Given the description of an element on the screen output the (x, y) to click on. 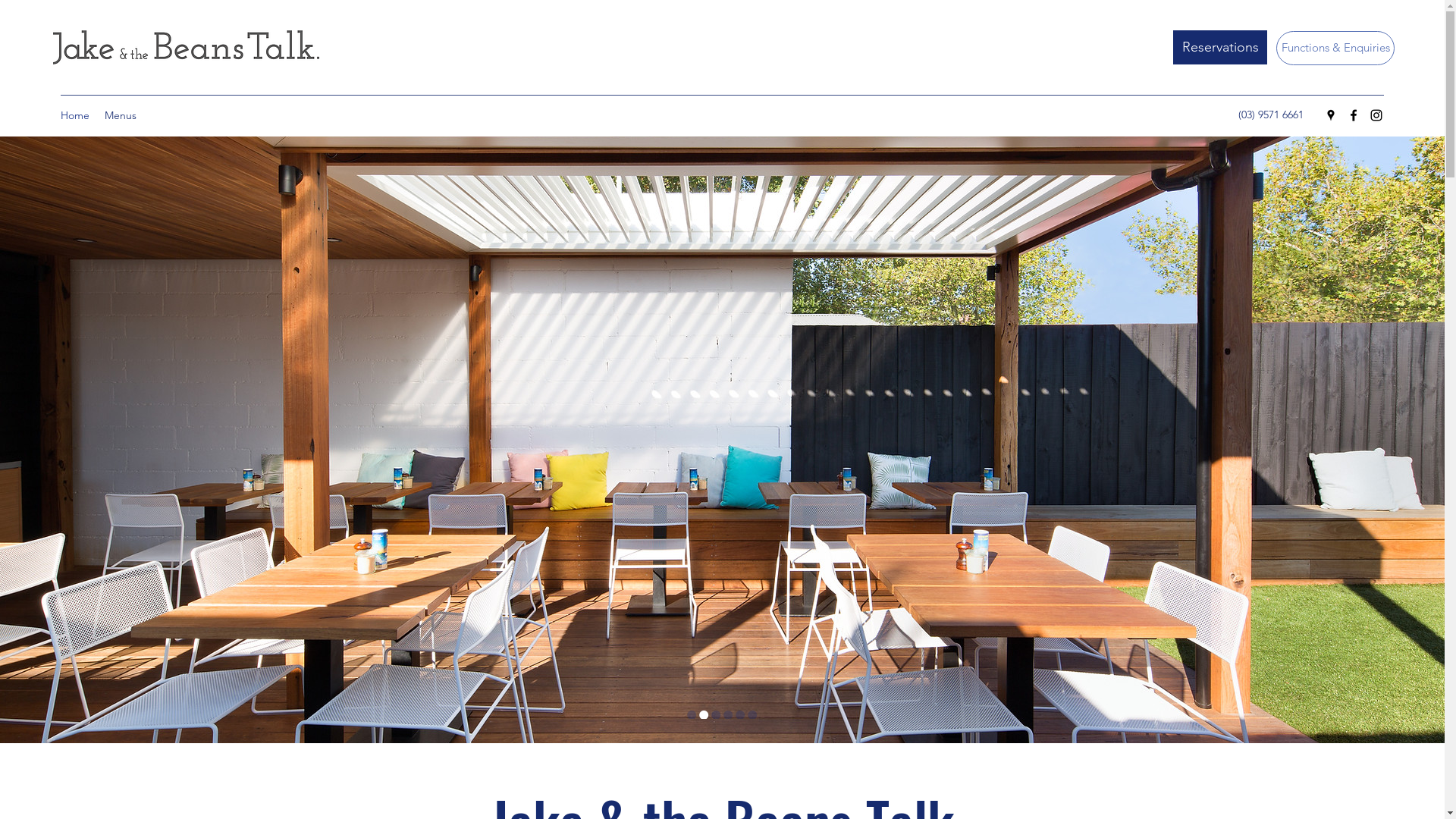
Home Element type: text (75, 114)
Reservations Element type: text (1220, 47)
Functions & Enquiries Element type: text (1335, 48)
Menus Element type: text (120, 114)
